Given the description of an element on the screen output the (x, y) to click on. 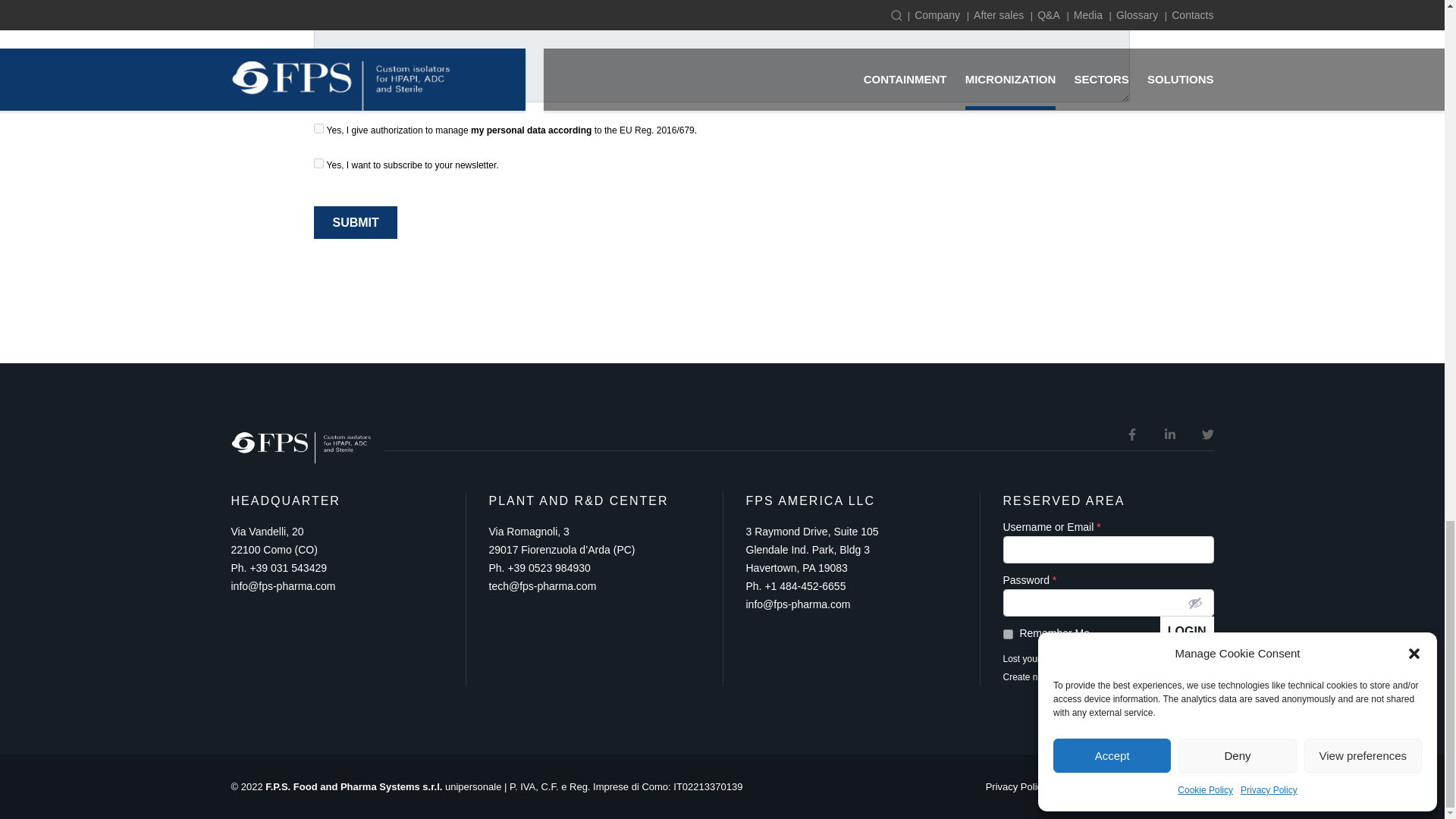
1 (318, 128)
Login (1187, 631)
Show password (1195, 602)
Yes (318, 163)
forever (1007, 634)
Submit (355, 222)
